Given the description of an element on the screen output the (x, y) to click on. 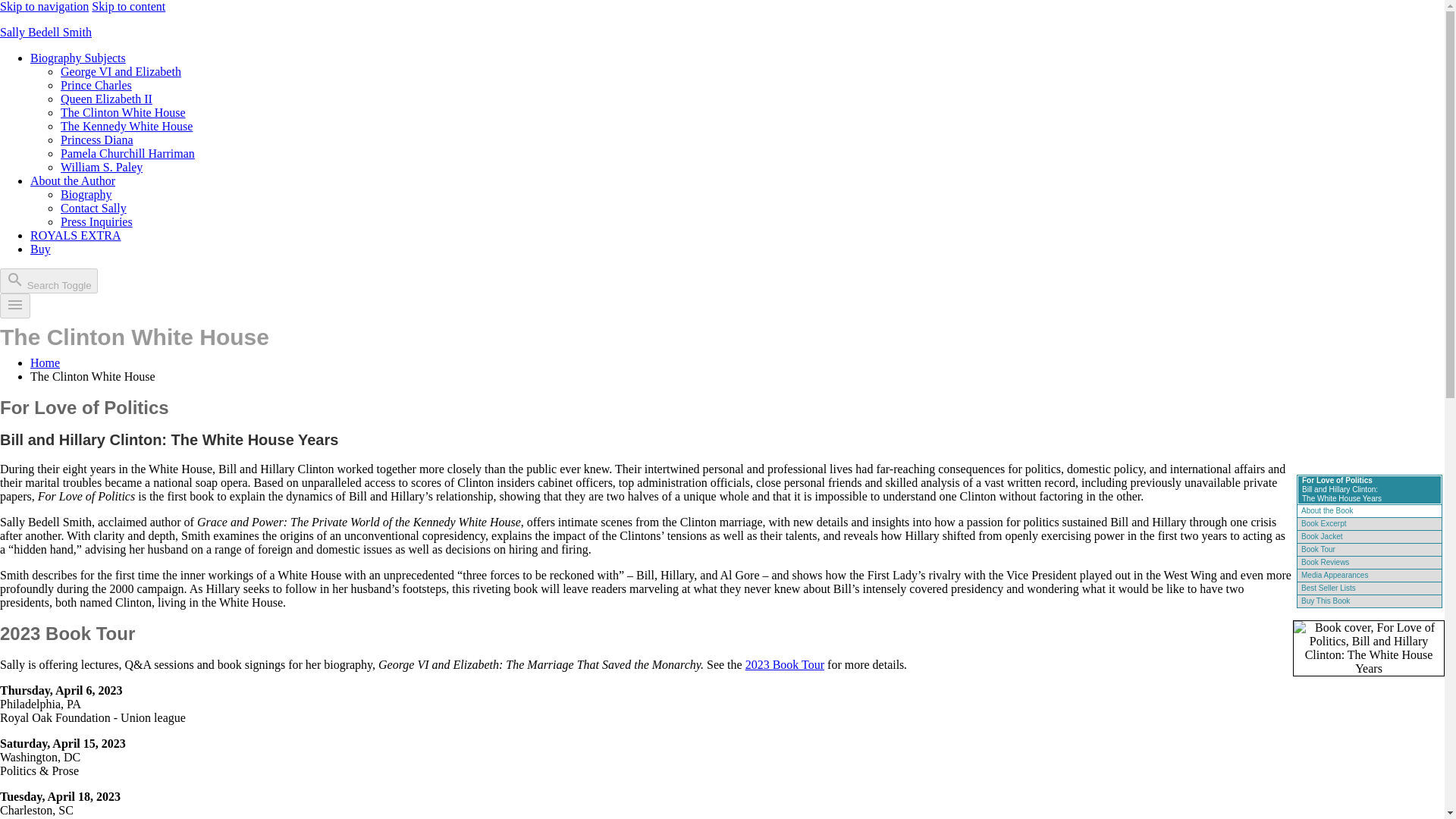
Book Jacket (1321, 536)
Skip to content (128, 6)
Pamela Churchill Harriman (128, 153)
Prince Charles (96, 84)
Contact Sally (93, 207)
Media Appearances (1334, 574)
ROYALS EXTRA (75, 235)
Press Inquiries (96, 221)
Queen Elizabeth II (106, 98)
Search Toggle (48, 280)
